Given the description of an element on the screen output the (x, y) to click on. 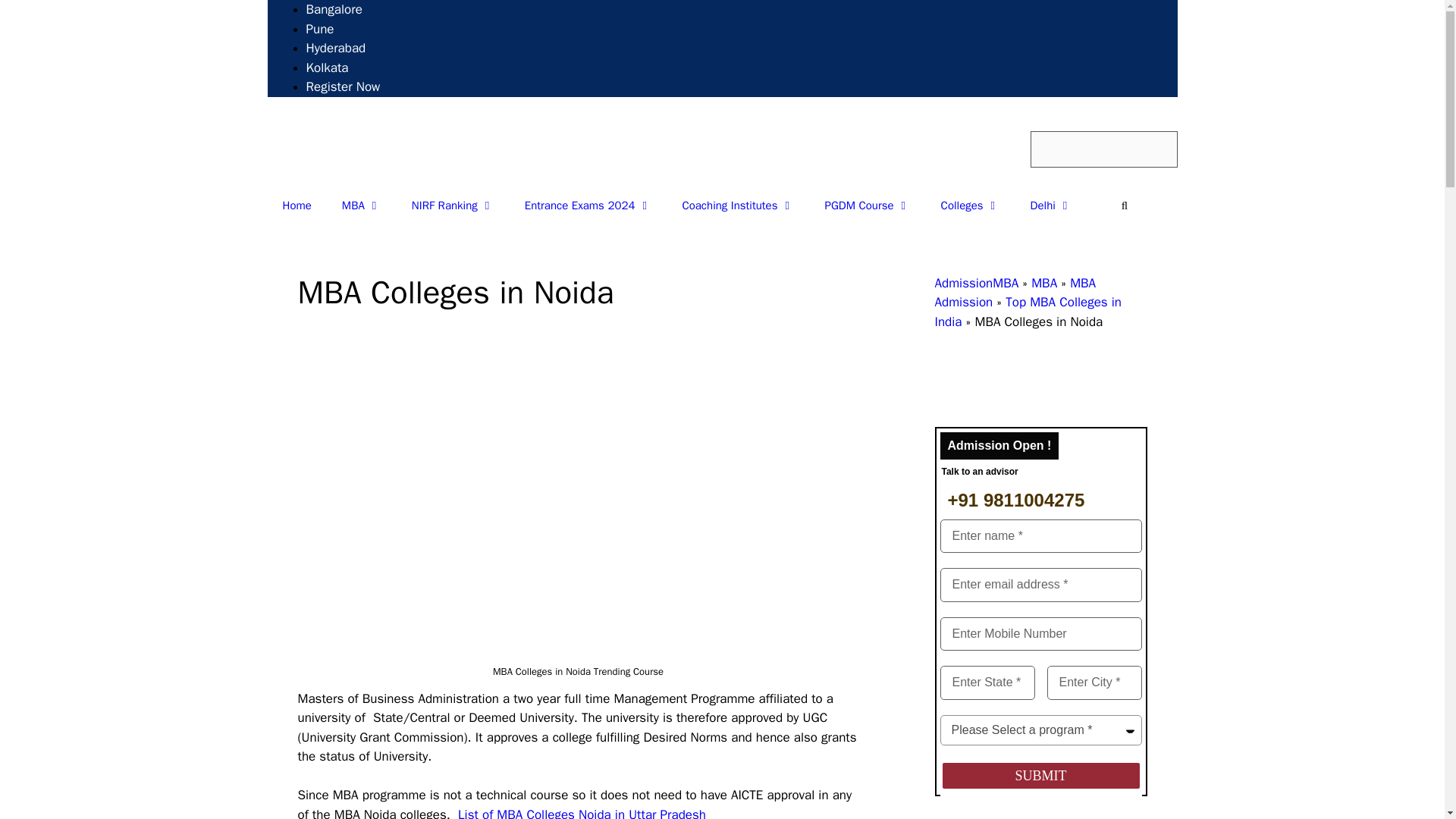
Top MBA colleges in India (970, 204)
AdmissionMBA (357, 146)
Pune (319, 28)
Home (296, 204)
PGDM in India (867, 204)
NIRF Ranking (452, 204)
Kolkata (327, 66)
PGDM Course (867, 204)
Search (1102, 149)
Bangalore (333, 9)
NIRF Ranking (452, 204)
Hyderabad (335, 48)
Coaching Institutes (737, 204)
Entrance Exams 2024 (587, 204)
AdmissionMBA (357, 148)
